Given the description of an element on the screen output the (x, y) to click on. 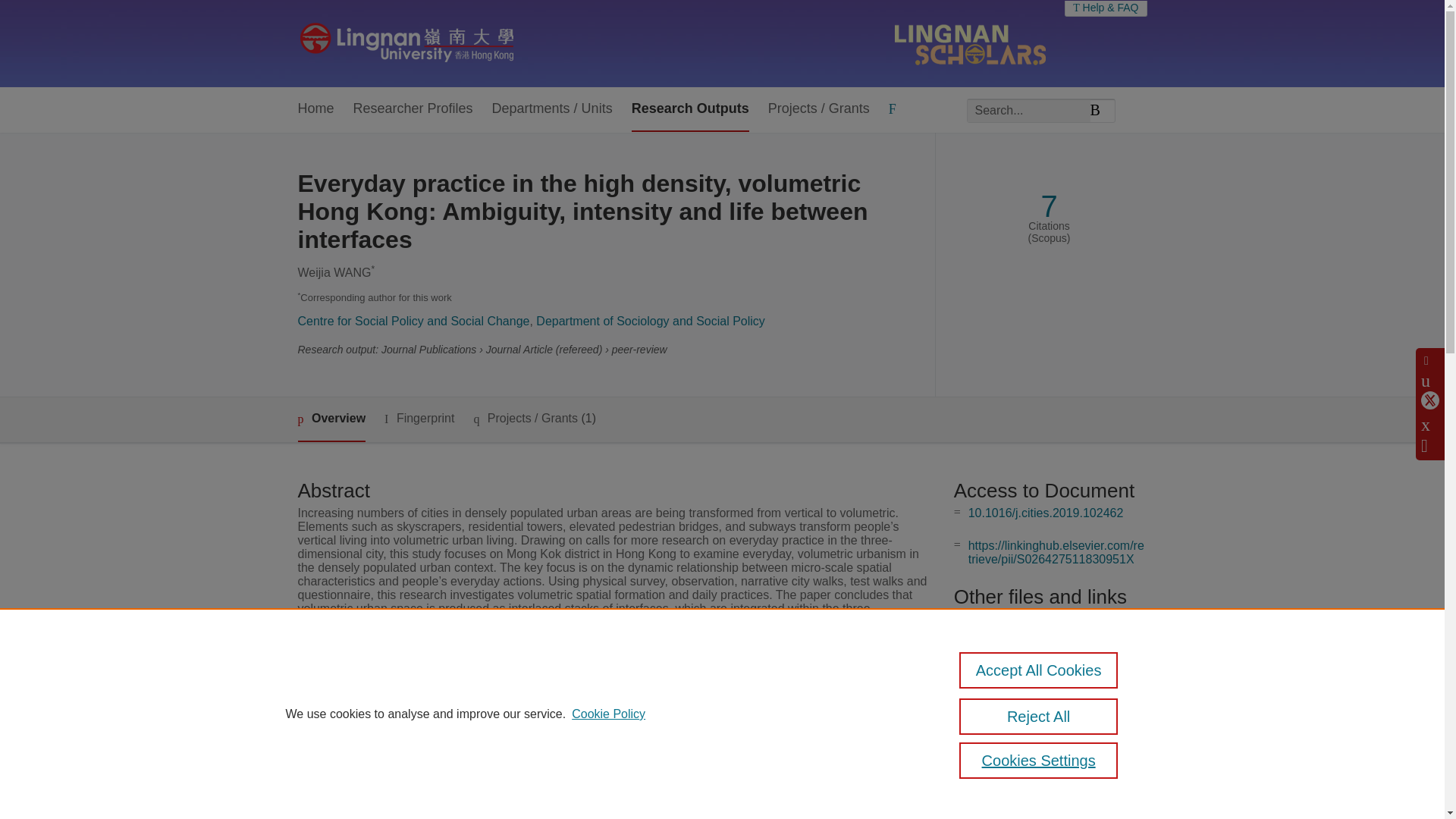
Fingerprint (419, 418)
Centre for Social Policy and Social Change (413, 320)
Department of Sociology and Social Policy (650, 320)
Cities (528, 736)
Lingnan Scholars Home (406, 43)
Overview (331, 419)
Researcher Profiles (413, 108)
Link to publication in Scopus (1045, 618)
Research Outputs (690, 108)
